Given the description of an element on the screen output the (x, y) to click on. 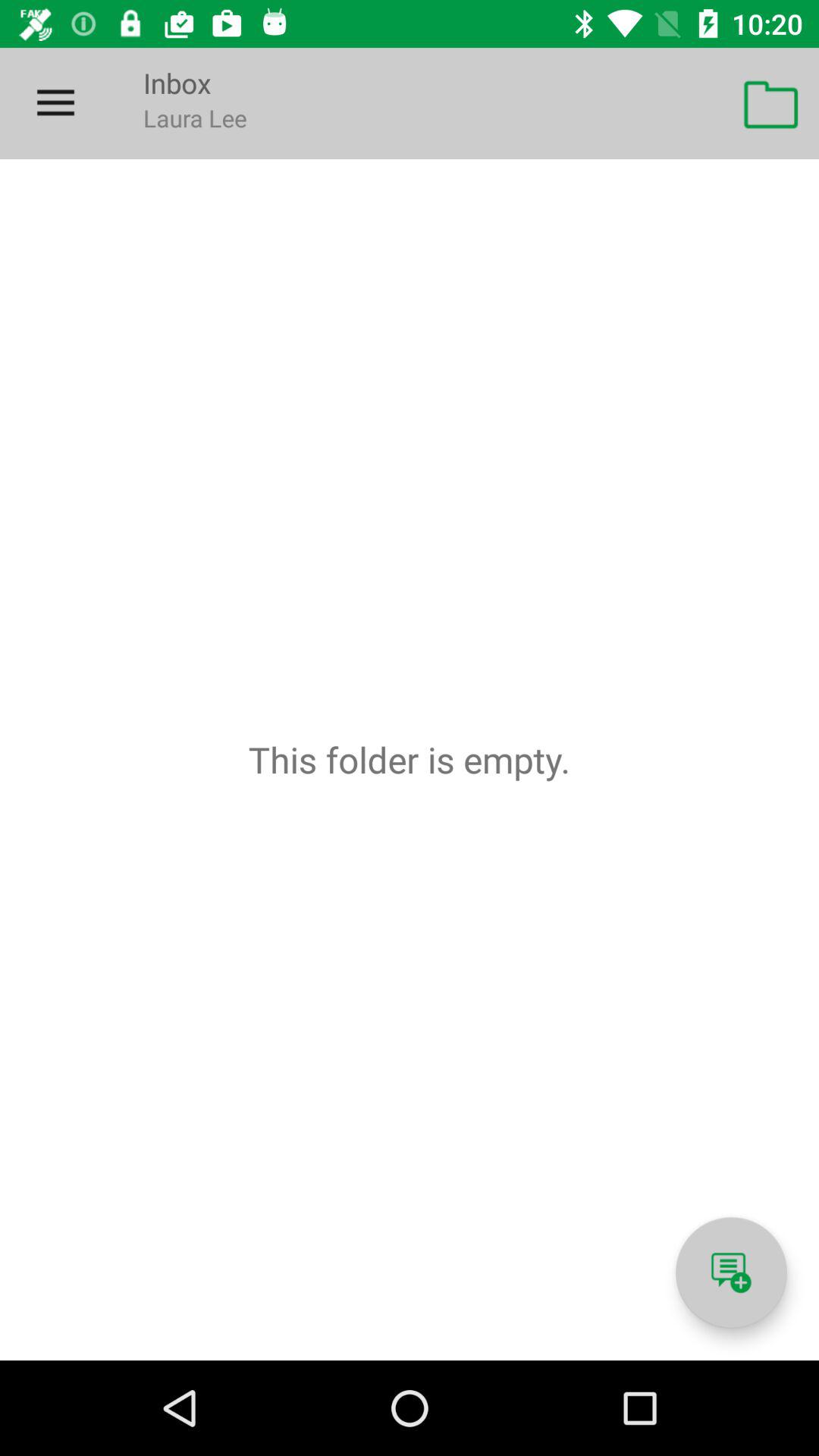
open chat (731, 1272)
